Given the description of an element on the screen output the (x, y) to click on. 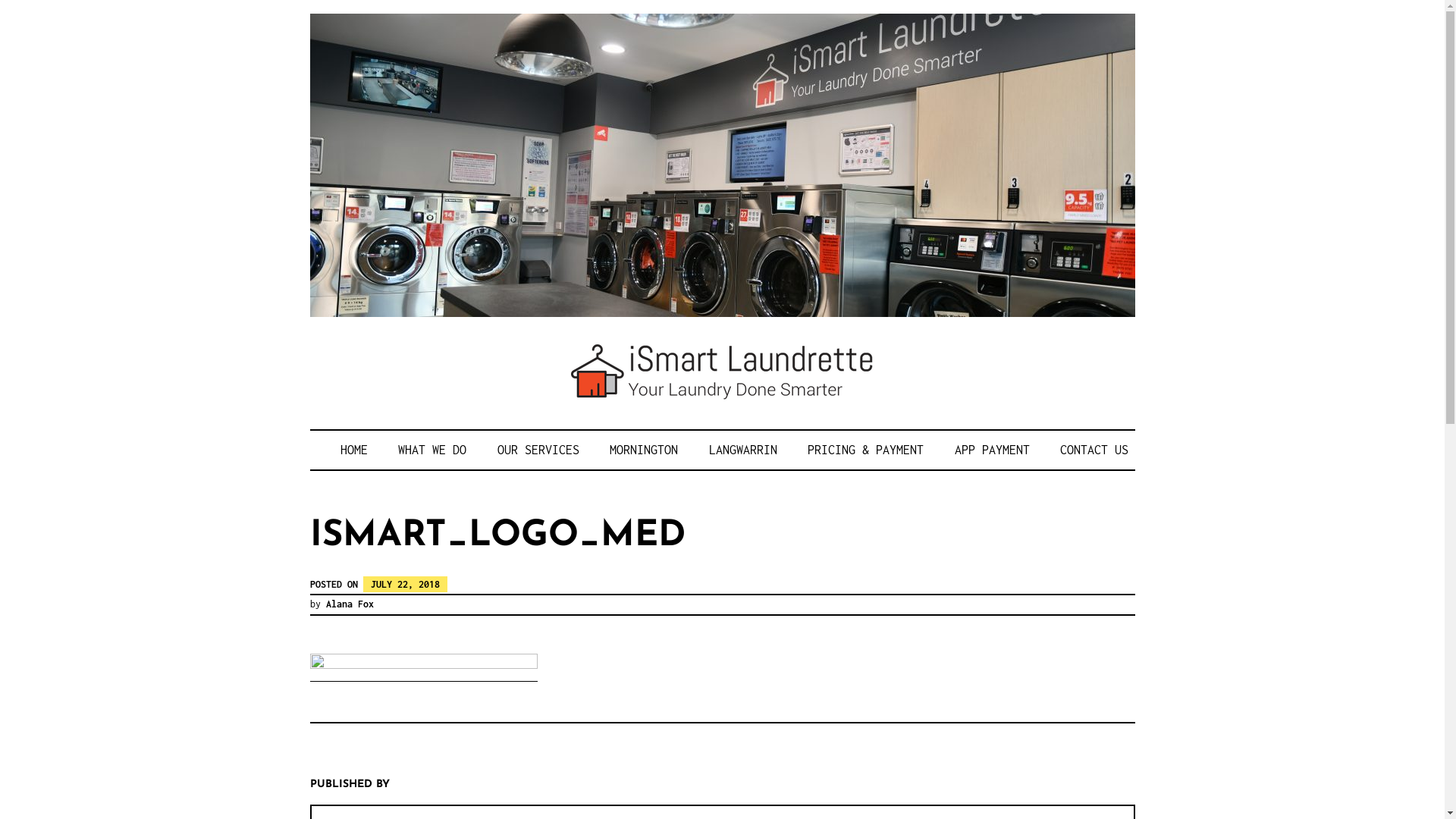
HOME Element type: text (353, 449)
LANGWARRIN Element type: text (742, 449)
WHAT WE DO Element type: text (432, 449)
JULY 22, 2018 Element type: text (404, 584)
Alana Fox Element type: text (349, 603)
CONTACT US Element type: text (1094, 449)
ISMART LAUNDRETTE Element type: text (580, 449)
MORNINGTON Element type: text (643, 449)
OUR SERVICES Element type: text (538, 449)
PRICING & PAYMENT Element type: text (865, 449)
APP PAYMENT Element type: text (991, 449)
